Given the description of an element on the screen output the (x, y) to click on. 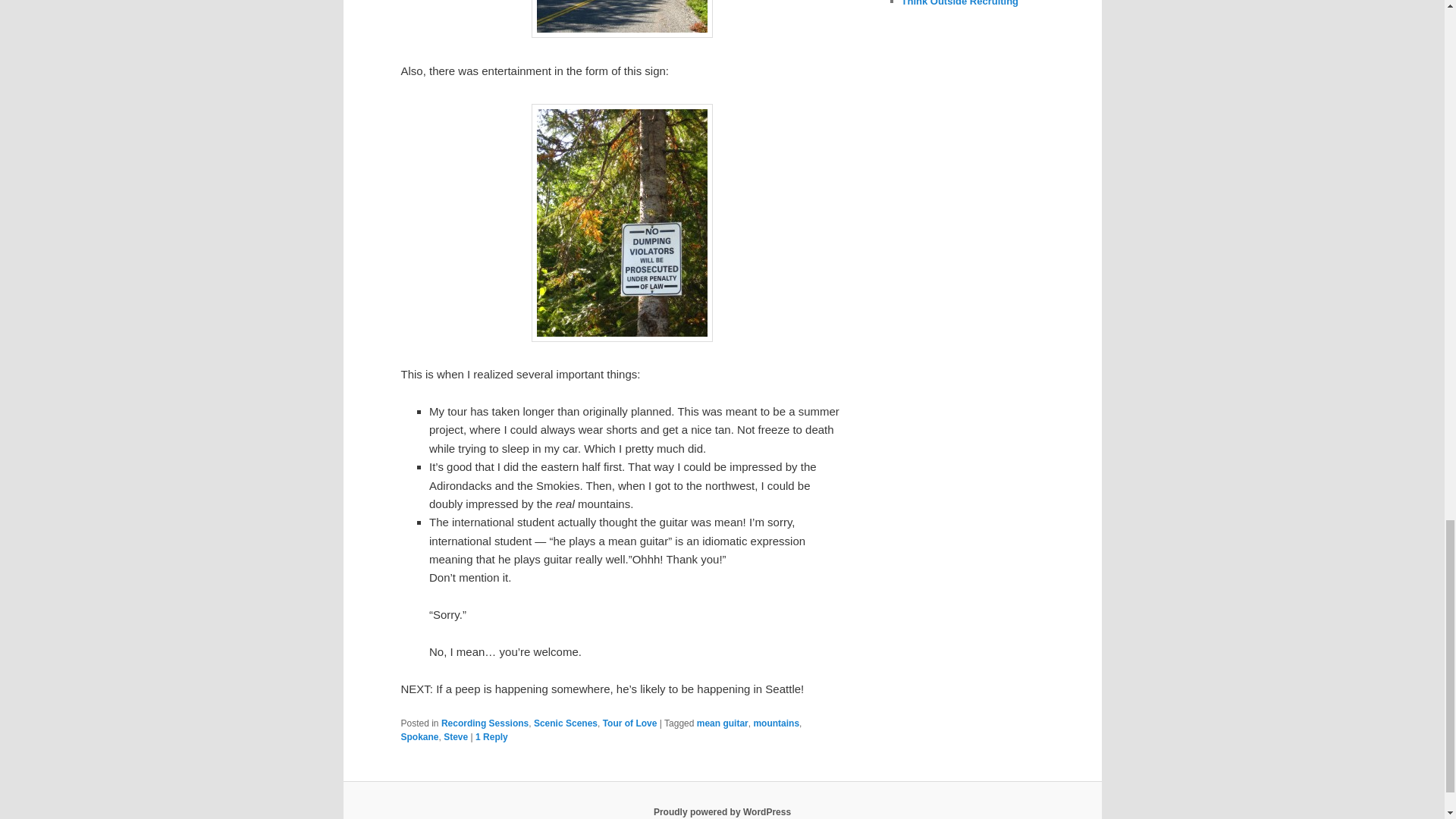
mountains (775, 723)
Steve (455, 737)
Semantic Personal Publishing Platform (721, 811)
Spokane (419, 737)
mean guitar (722, 723)
1 Reply (492, 737)
Scenic Scenes (565, 723)
Recording Sessions (484, 723)
Tour of Love (630, 723)
